Given the description of an element on the screen output the (x, y) to click on. 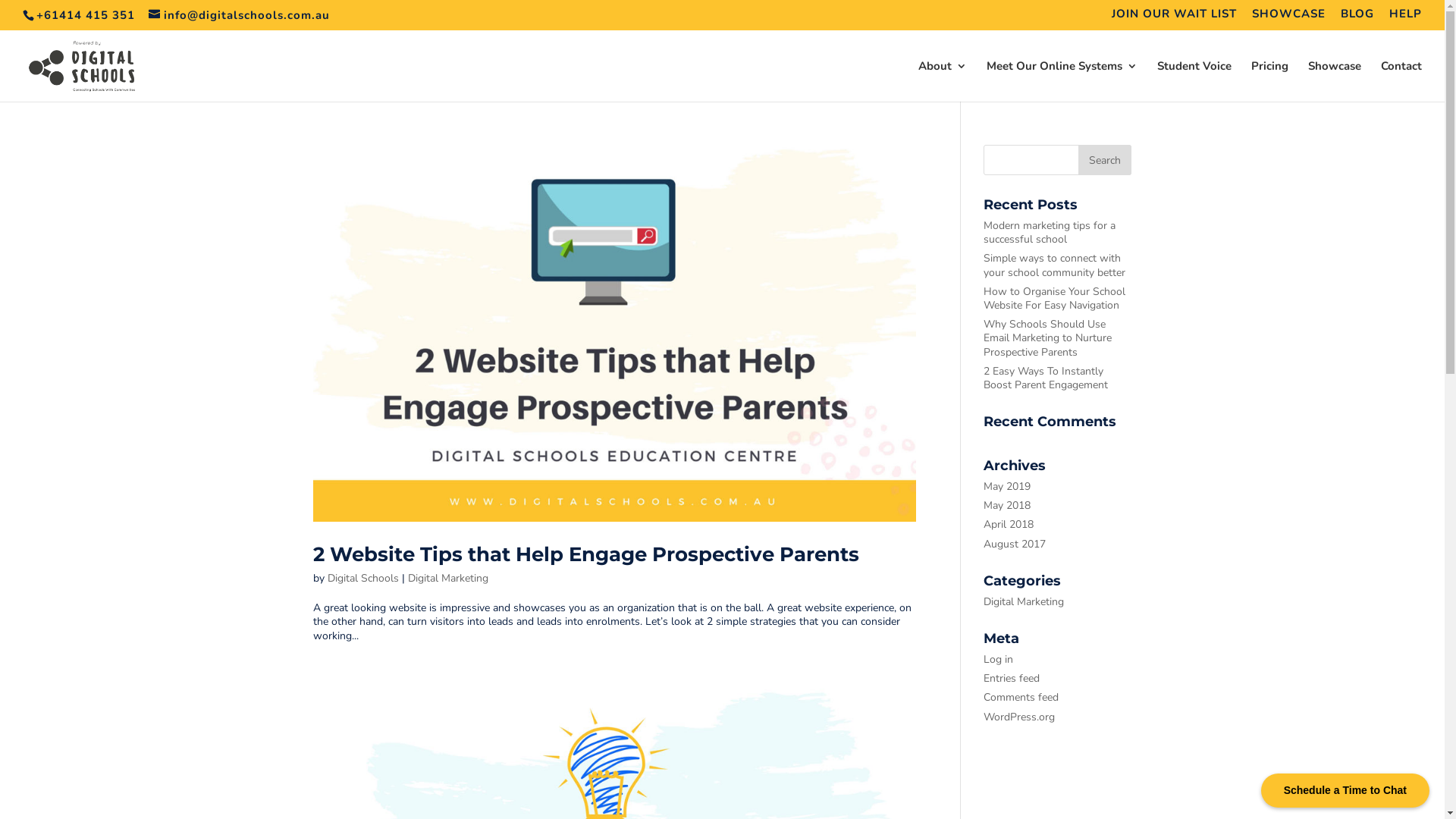
April 2018 Element type: text (1008, 524)
Student Voice Element type: text (1194, 80)
+61414 415 351 Element type: text (85, 14)
HELP Element type: text (1405, 18)
Meet Our Online Systems Element type: text (1061, 80)
Entries feed Element type: text (1011, 678)
Simple ways to connect with your school community better Element type: text (1054, 265)
May 2019 Element type: text (1006, 486)
WordPress.org Element type: text (1018, 716)
August 2017 Element type: text (1014, 543)
Search Element type: text (1104, 159)
Log in Element type: text (998, 659)
Digital Schools Element type: text (362, 578)
Comments feed Element type: text (1020, 697)
Contact Element type: text (1400, 80)
SHOWCASE Element type: text (1288, 18)
How to Organise Your School Website For Easy Navigation Element type: text (1054, 298)
BLOG Element type: text (1357, 18)
Pricing Element type: text (1269, 80)
About Element type: text (942, 80)
2 Website Tips that Help Engage Prospective Parents Element type: text (585, 554)
May 2018 Element type: text (1006, 505)
Showcase Element type: text (1334, 80)
2 Easy Ways To Instantly Boost Parent Engagement Element type: text (1045, 378)
Digital Marketing Element type: text (447, 578)
Modern marketing tips for a successful school Element type: text (1049, 232)
JOIN OUR WAIT LIST Element type: text (1173, 18)
info@digitalschools.com.au Element type: text (238, 14)
Digital Marketing Element type: text (1023, 601)
